Given the description of an element on the screen output the (x, y) to click on. 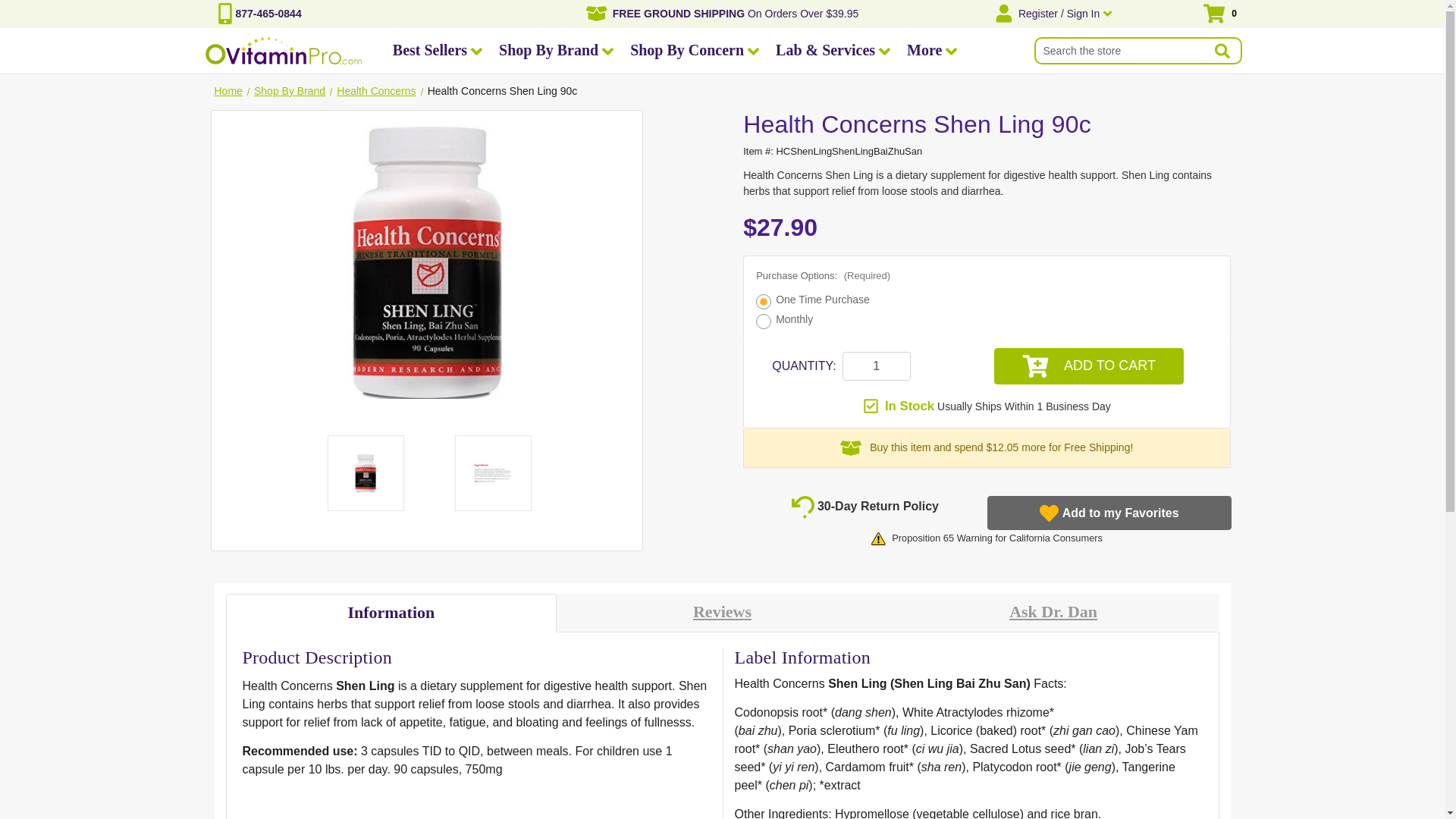
1 (877, 366)
Health Concerns Shen Ling 90c front label (426, 262)
Best Sellers (437, 51)
877-465-0844 (267, 13)
0 (1186, 13)
OVitaminPro (283, 50)
Shop By Brand (555, 51)
